Given the description of an element on the screen output the (x, y) to click on. 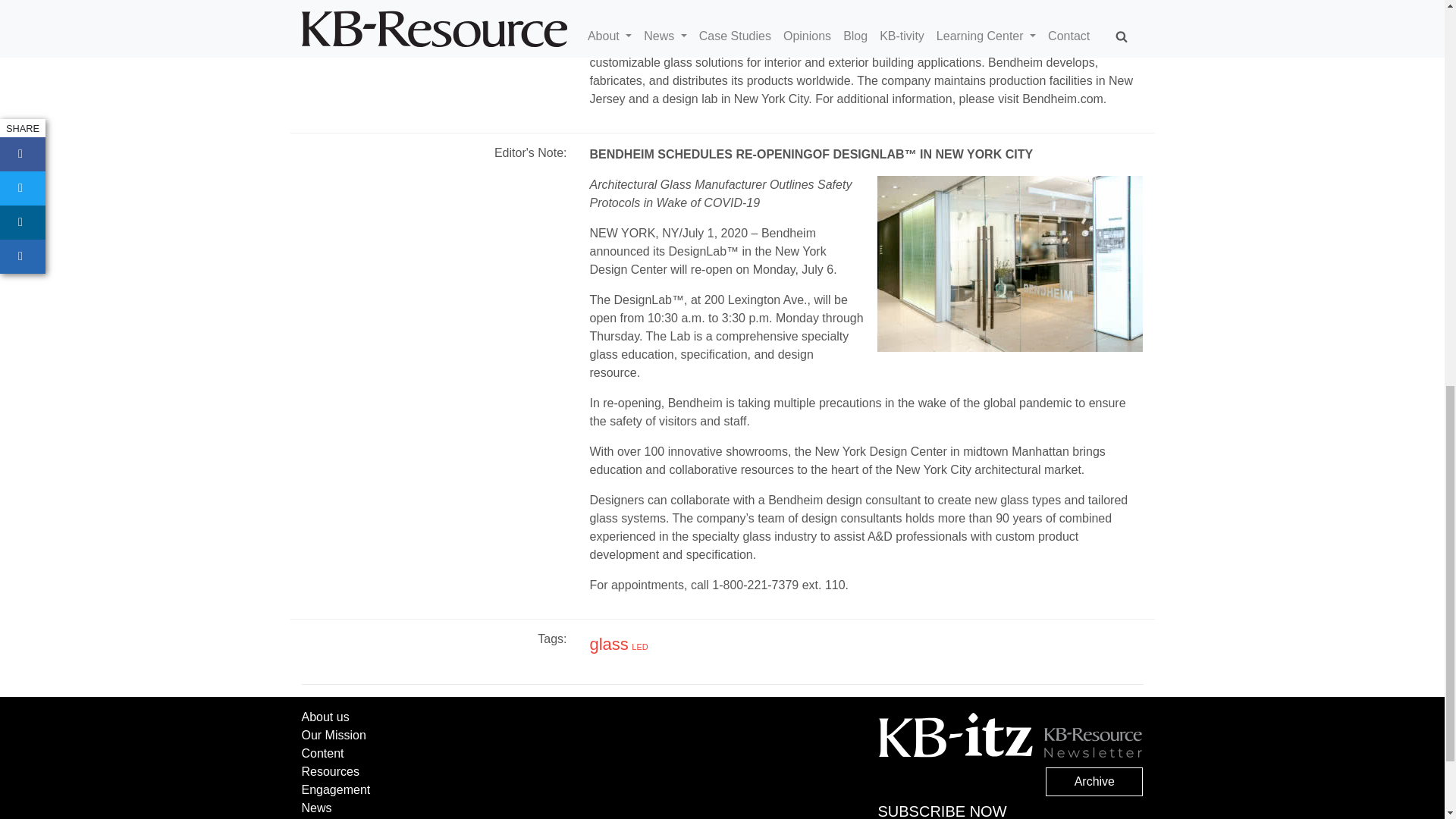
About us (325, 716)
Our Mission (333, 735)
Resources (330, 771)
glass (608, 643)
LED (639, 646)
Content (322, 753)
